Given the description of an element on the screen output the (x, y) to click on. 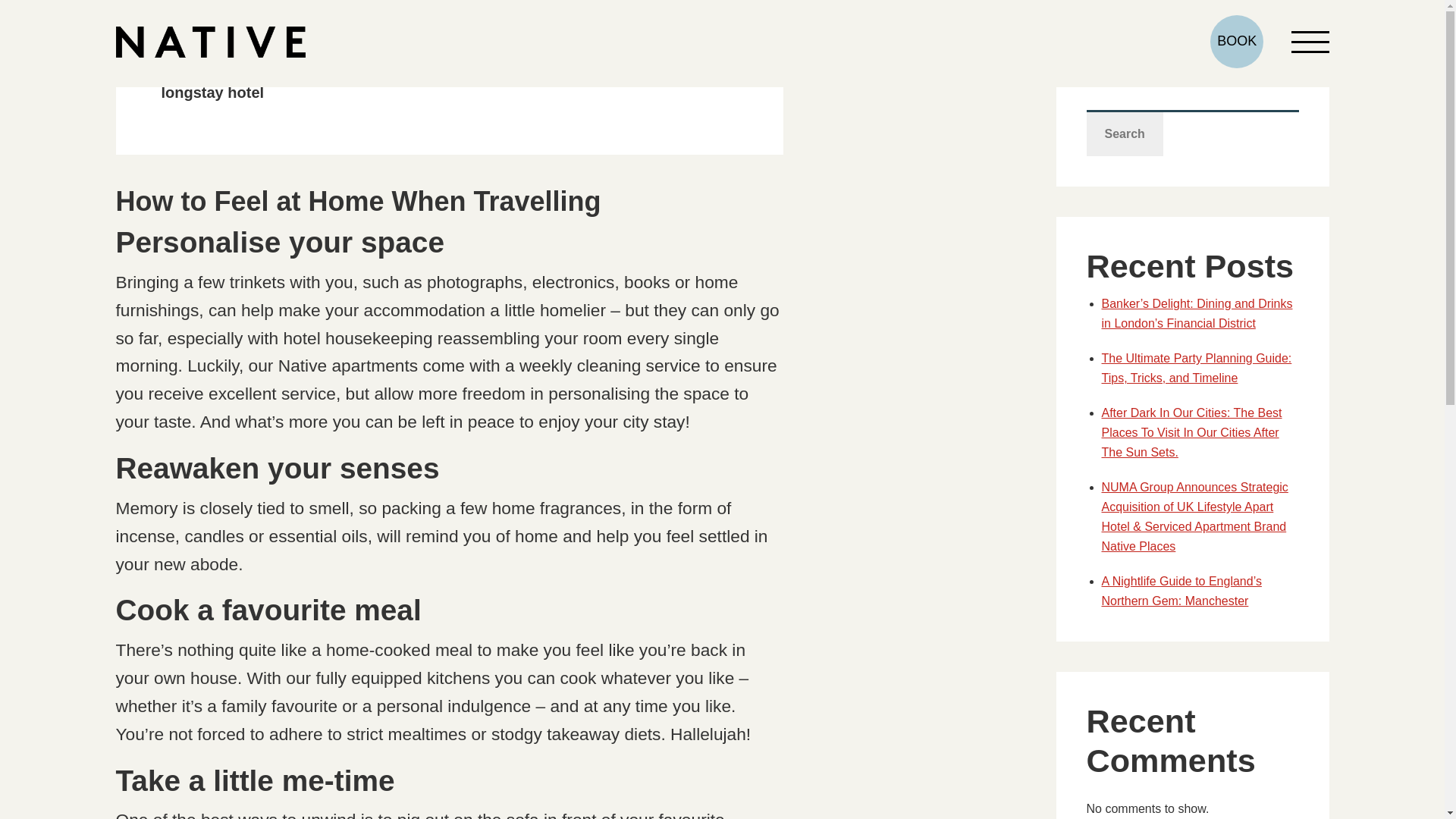
How to Feel at Home When Travelling (357, 201)
Search (1123, 134)
BOOK (1236, 41)
Native Places (209, 40)
